Given the description of an element on the screen output the (x, y) to click on. 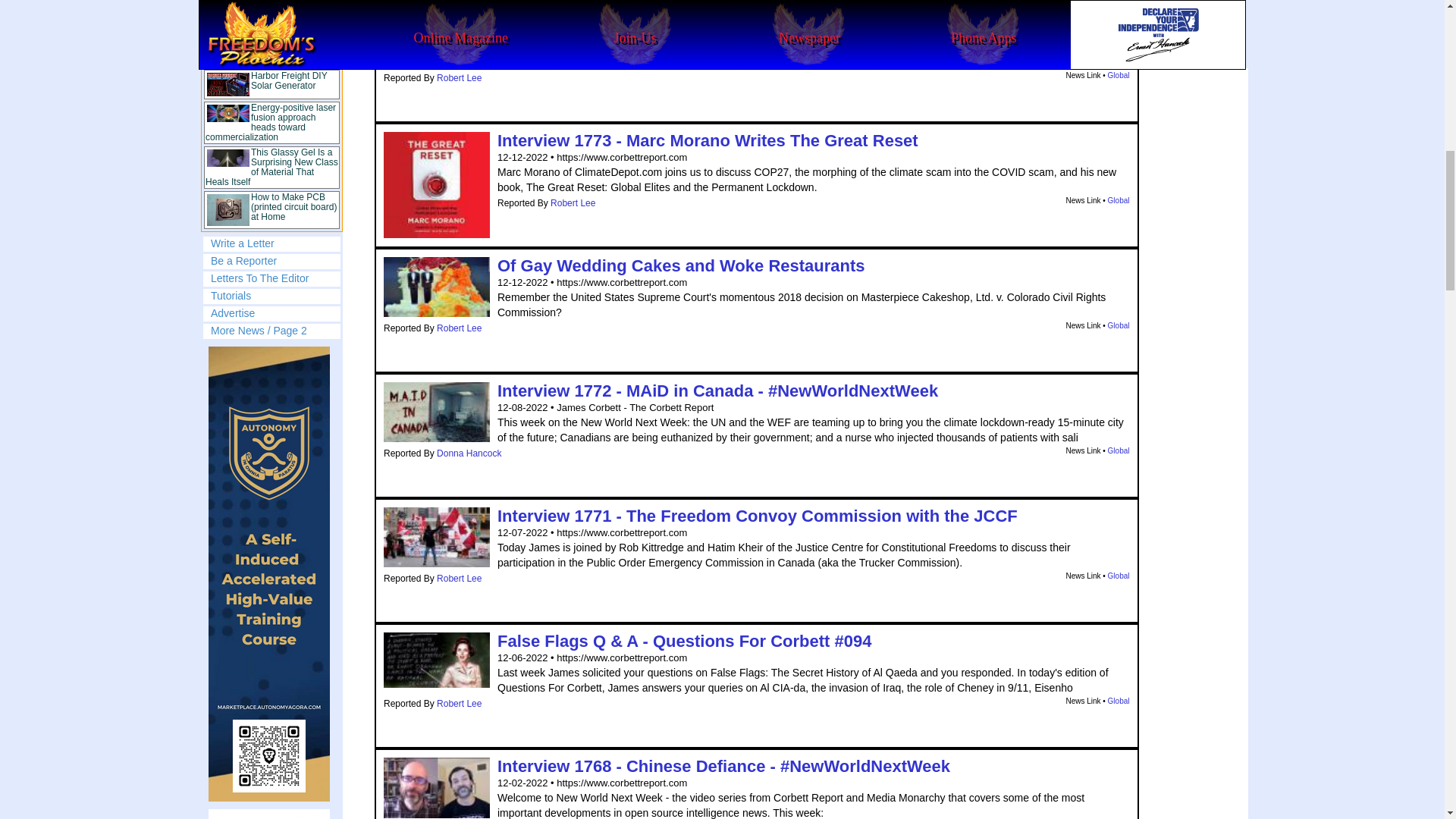
Top Links (271, 115)
